Given the description of an element on the screen output the (x, y) to click on. 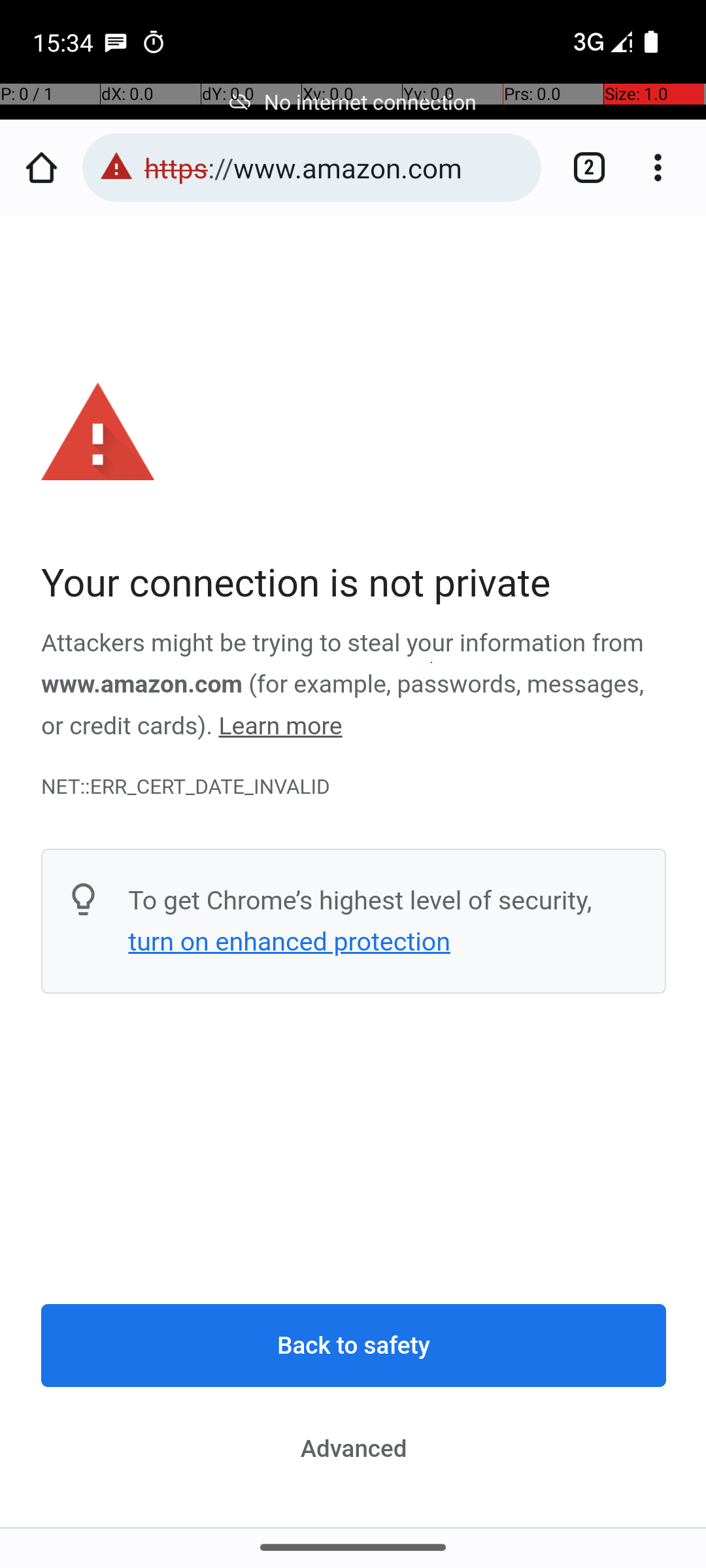
https://www.amazon.com Element type: android.widget.EditText (335, 167)
www.amazon.com Element type: android.widget.TextView (142, 684)
